Given the description of an element on the screen output the (x, y) to click on. 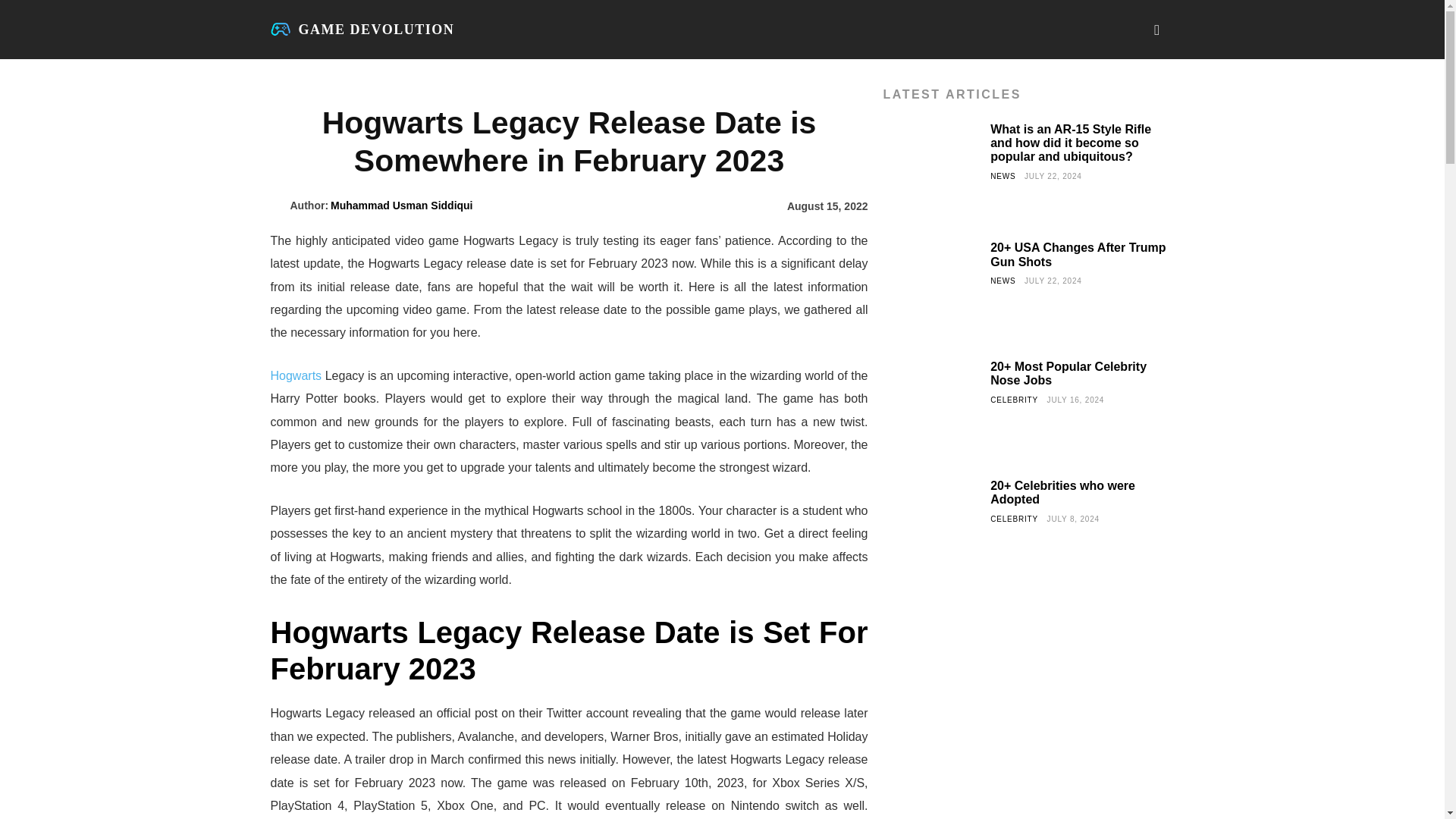
GAME DEVOLUTION (361, 29)
Muhammad Usman Siddiqui (279, 205)
